Given the description of an element on the screen output the (x, y) to click on. 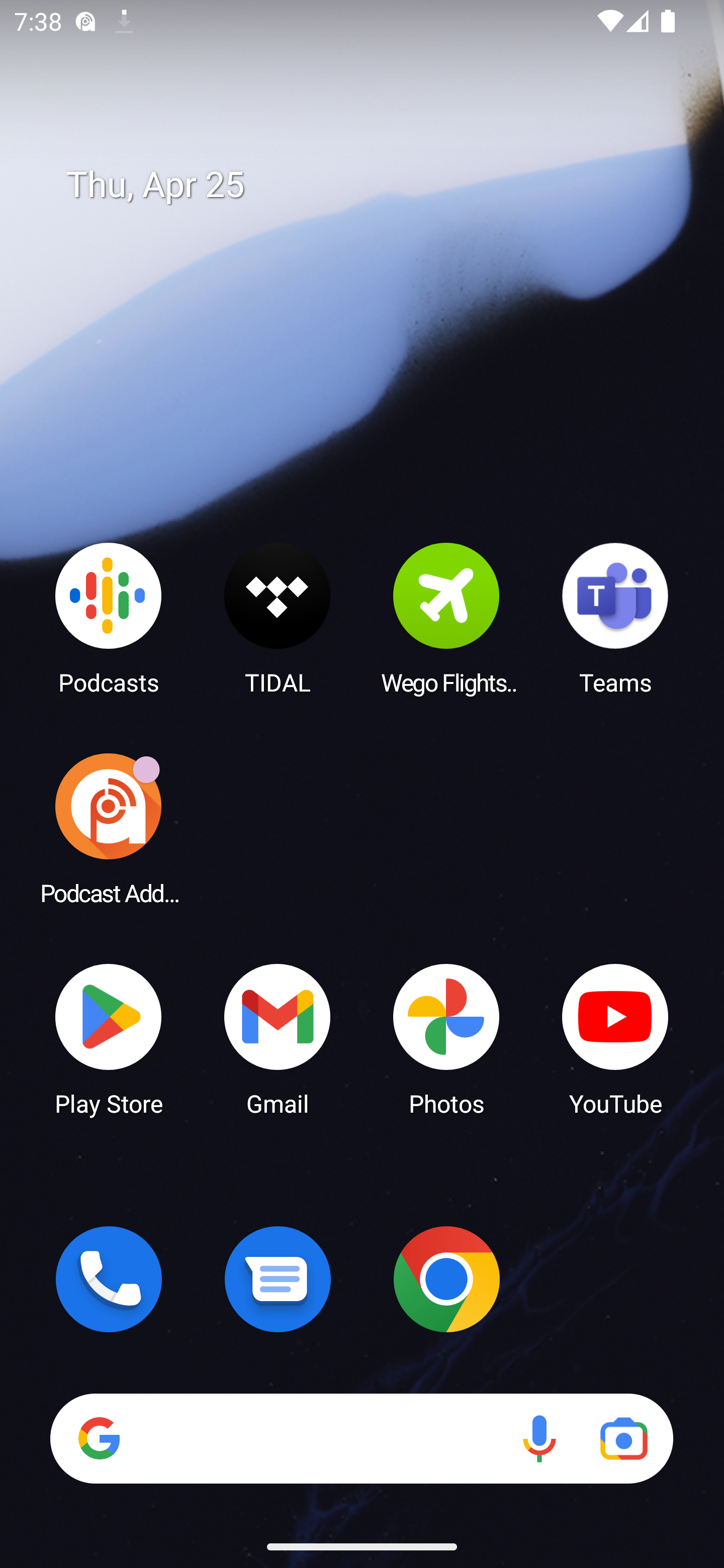
Thu, Apr 25 (375, 184)
Podcasts (108, 617)
TIDAL (277, 617)
Wego Flights & Hotels (445, 617)
Teams (615, 617)
Podcast Addict Podcast Addict has 19 notifications (108, 828)
Play Store (108, 1038)
Gmail (277, 1038)
Photos (445, 1038)
YouTube (615, 1038)
Phone (108, 1279)
Messages (277, 1279)
Chrome (446, 1279)
Search Voice search Google Lens (361, 1438)
Voice search (539, 1438)
Google Lens (623, 1438)
